Given the description of an element on the screen output the (x, y) to click on. 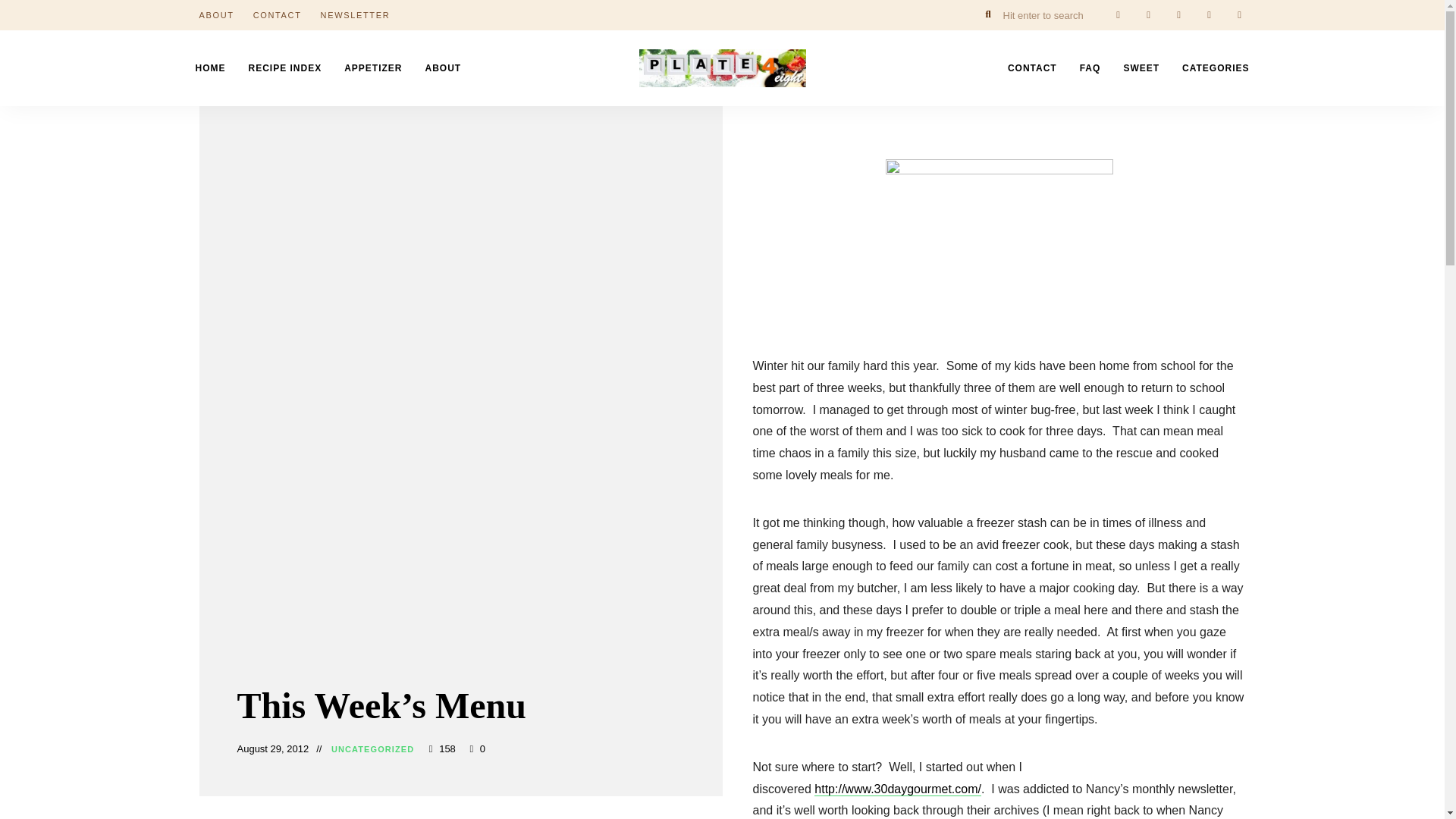
facebook (1117, 15)
Plate4Eight (691, 110)
CONTACT (277, 15)
APPETIZER (373, 68)
youtube (1238, 15)
CATEGORIES (1215, 68)
NEWSLETTER (355, 15)
instagram (1178, 15)
twitter (1147, 15)
Spaghetti and Meatballs (999, 244)
pinterest (1208, 15)
RECIPE INDEX (284, 68)
CONTACT (1031, 68)
UNCATEGORIZED (372, 749)
ABOUT (215, 15)
